Given the description of an element on the screen output the (x, y) to click on. 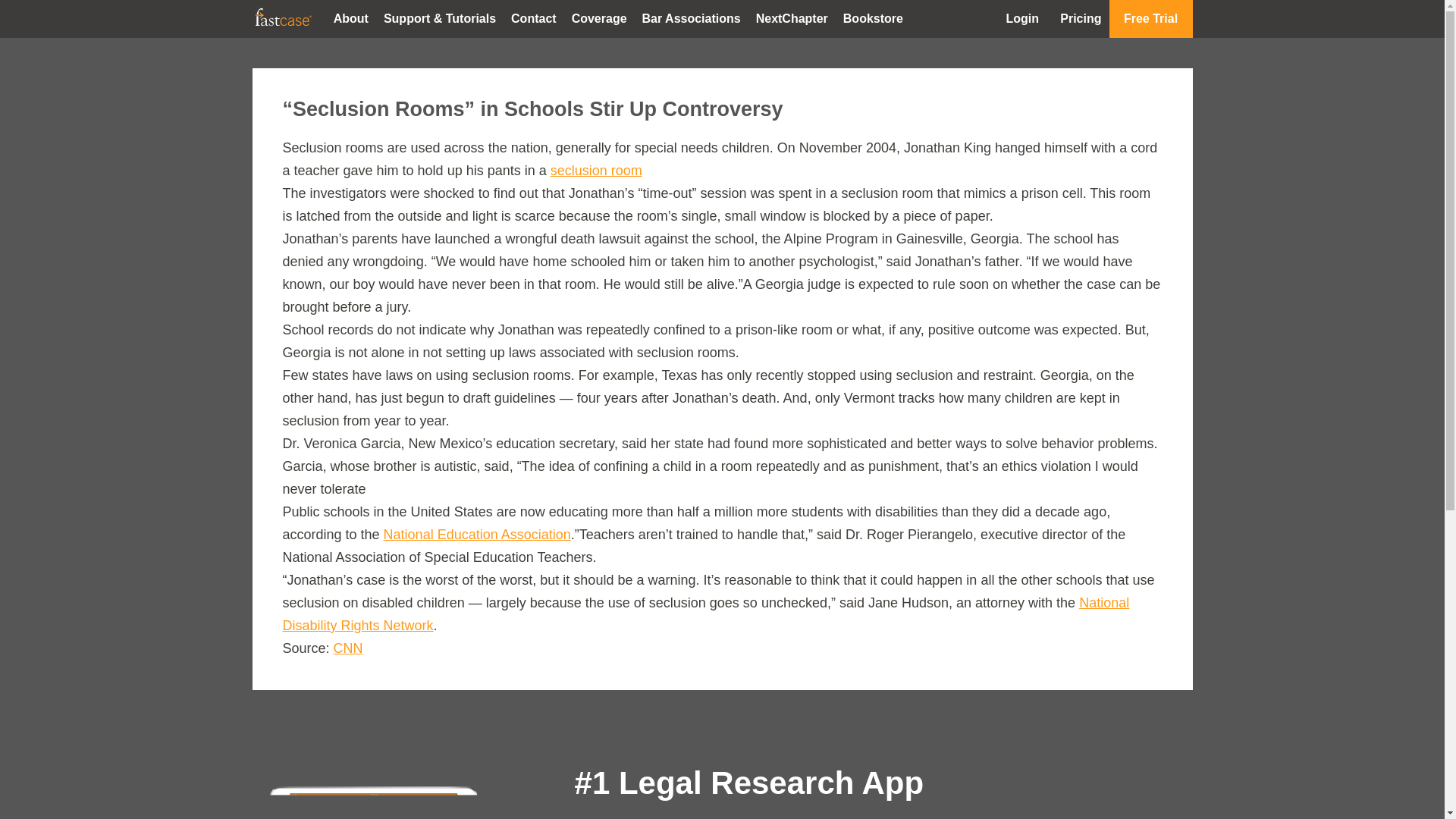
CNN (347, 648)
National Disability Rights Network (705, 614)
Bar Associations (691, 18)
Contact (533, 18)
NextChapter (791, 18)
Coverage (599, 18)
Bookstore (873, 18)
seclusion room (596, 170)
Pricing (1080, 18)
Login (1021, 18)
